Given the description of an element on the screen output the (x, y) to click on. 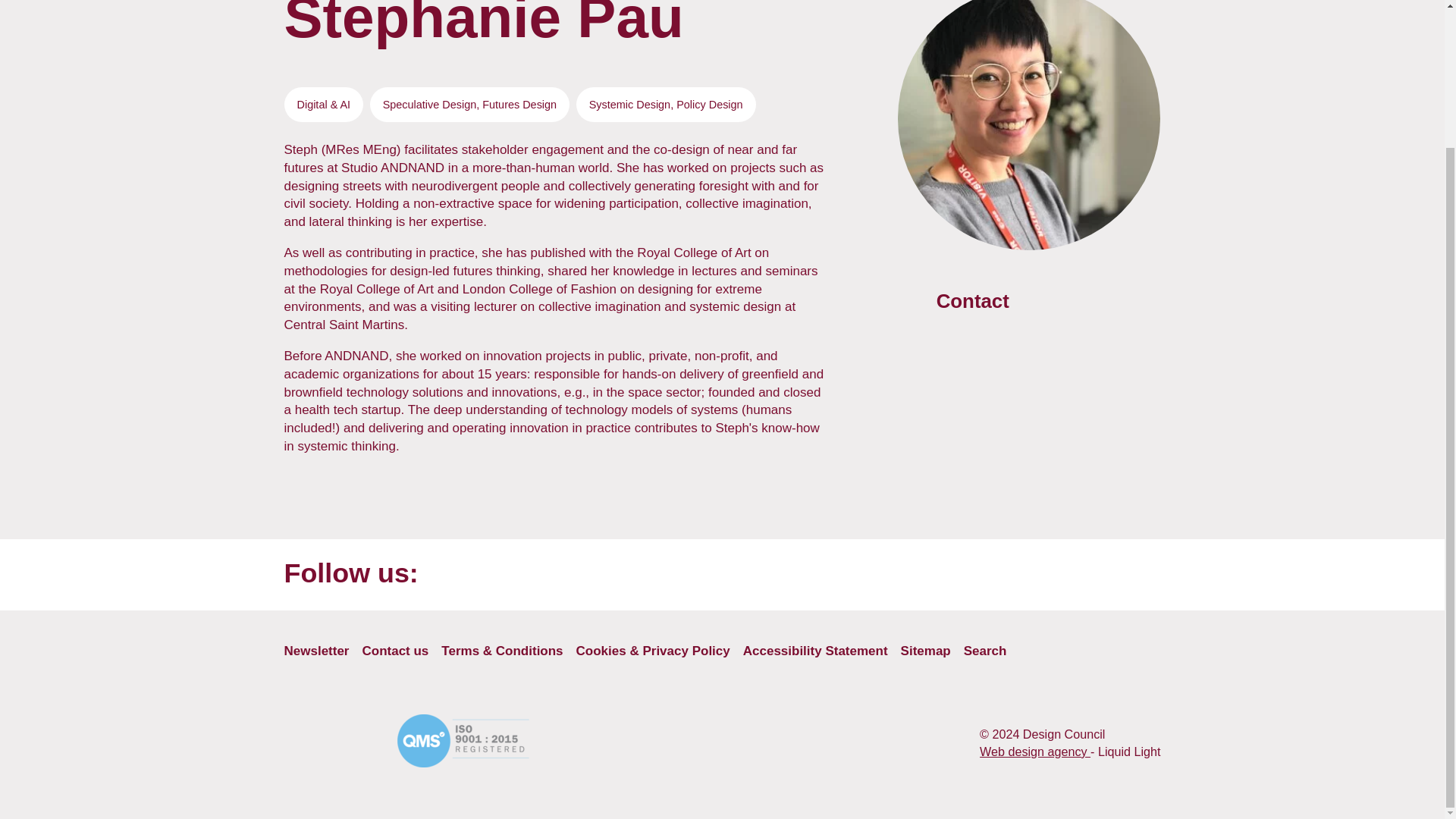
Design Council on Vimeo (1137, 578)
Design Council on Instagram (964, 578)
Follow Design Council on Twitter (789, 578)
Design Council on Facebook (847, 578)
Design Council on Medium (1079, 578)
Design Council on The Dots (1021, 578)
Follow Design Council on LinkedIn (905, 578)
Design Council on YouTube (732, 578)
